Given the description of an element on the screen output the (x, y) to click on. 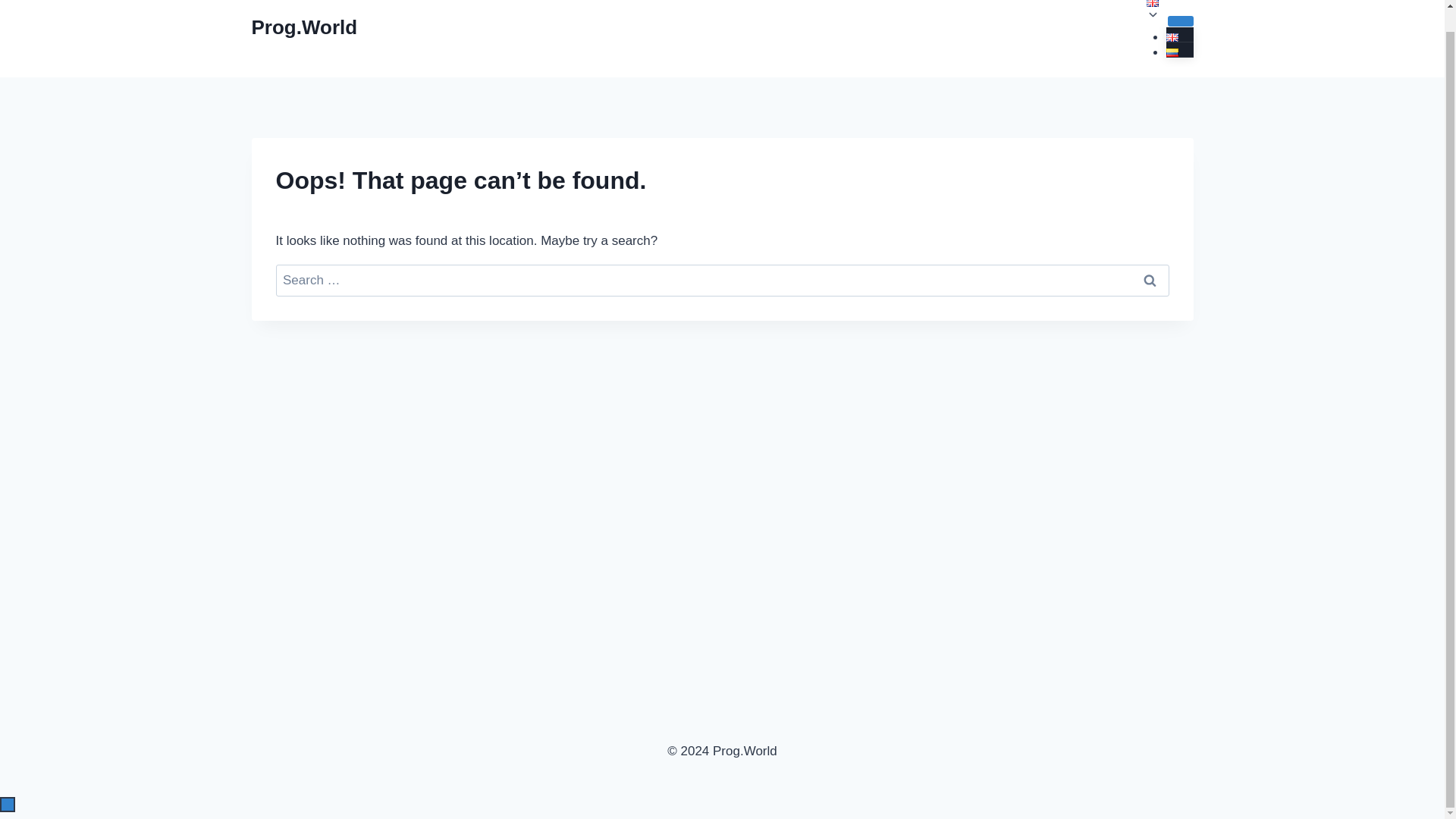
Prog.World (304, 27)
Search (1150, 280)
Search (1150, 280)
Search (1150, 280)
